Given the description of an element on the screen output the (x, y) to click on. 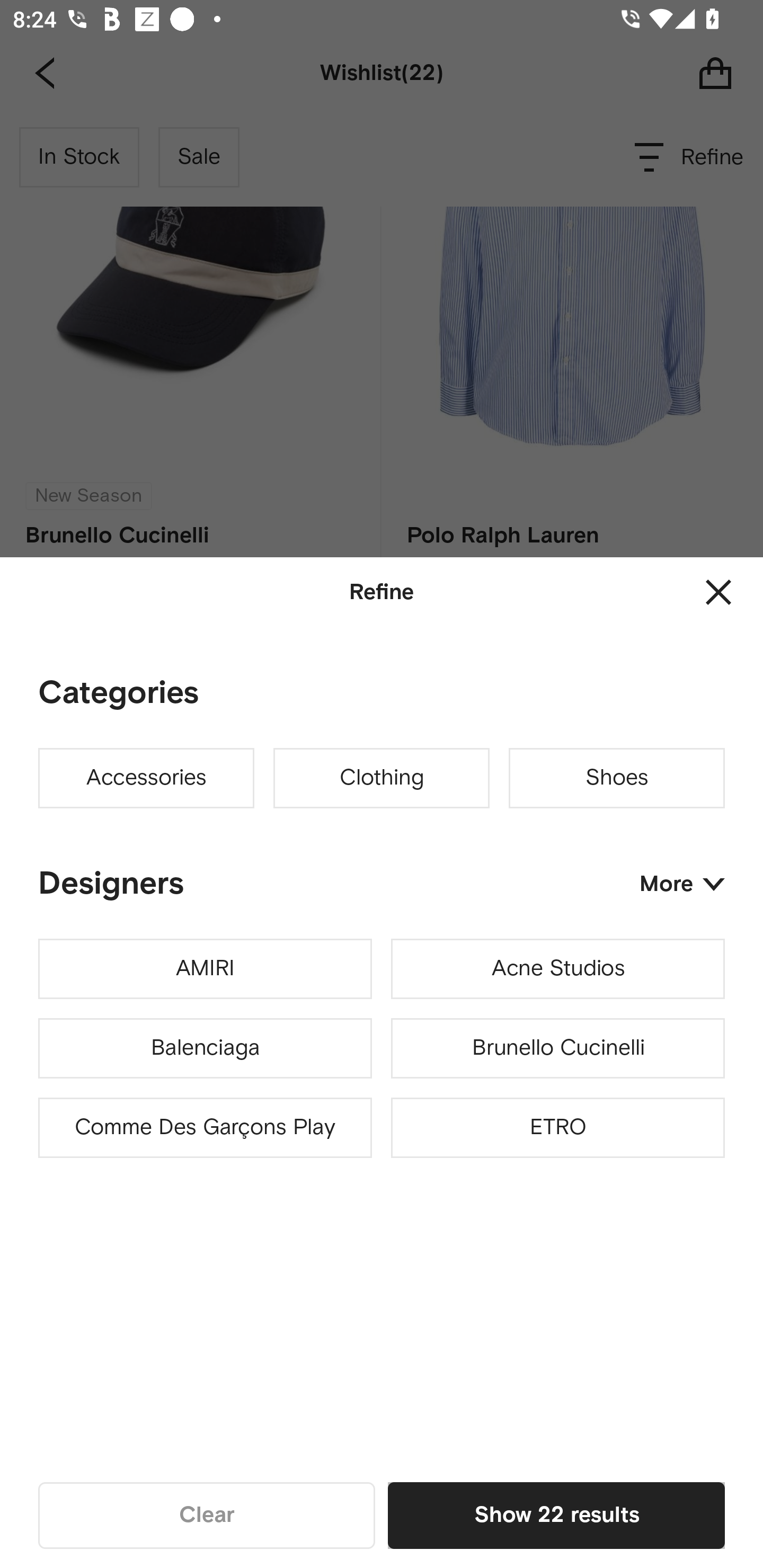
Accessories (146, 778)
Clothing (381, 778)
Shoes (616, 778)
More (681, 884)
AMIRI (205, 968)
Acne Studios (557, 968)
Balenciaga (205, 1047)
Brunello Cucinelli (557, 1047)
Comme Des Garçons Play (205, 1127)
ETRO (557, 1127)
Clear (206, 1515)
Show 22 results (555, 1515)
